Given the description of an element on the screen output the (x, y) to click on. 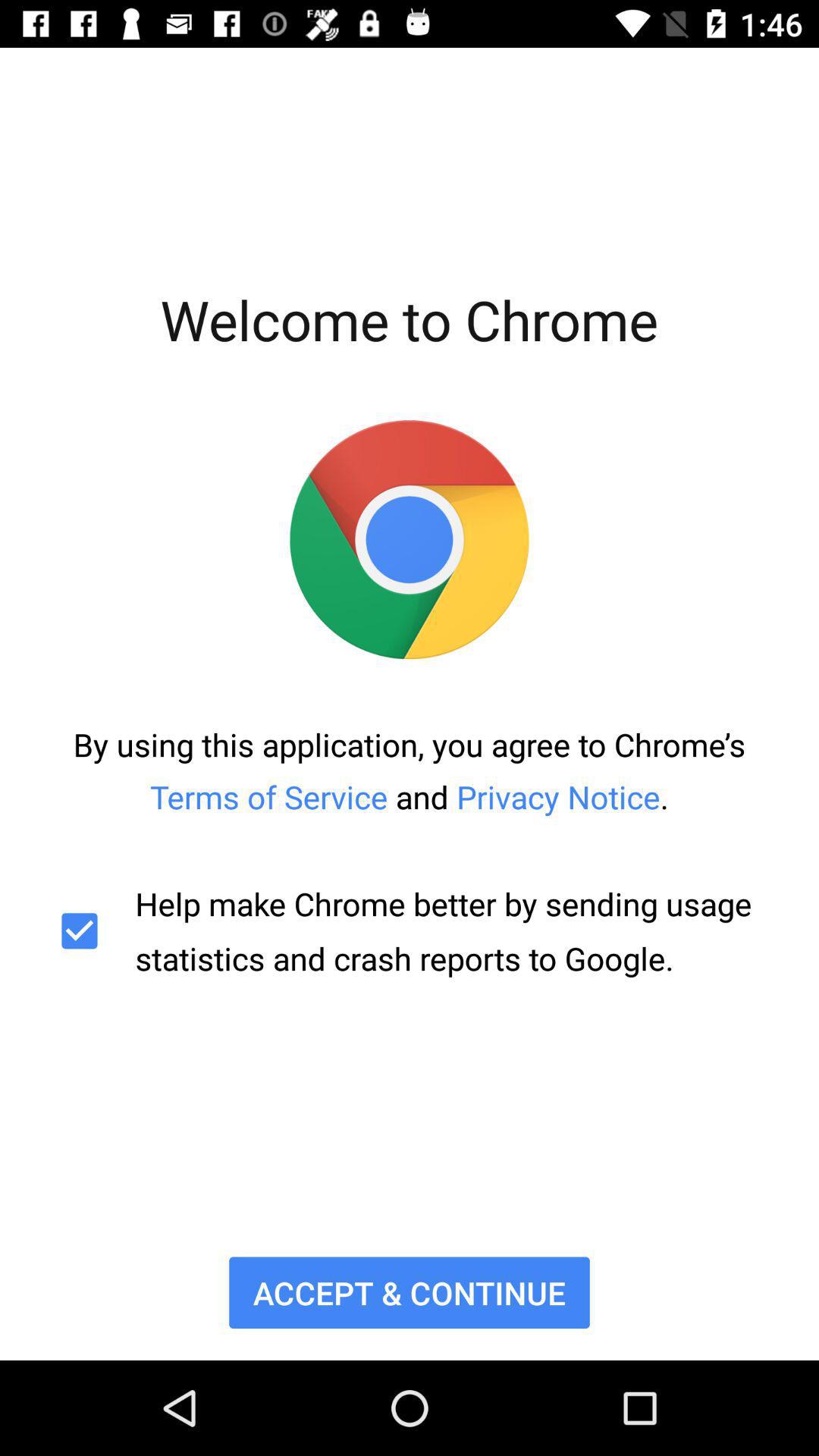
tap the item below the by using this item (409, 930)
